Given the description of an element on the screen output the (x, y) to click on. 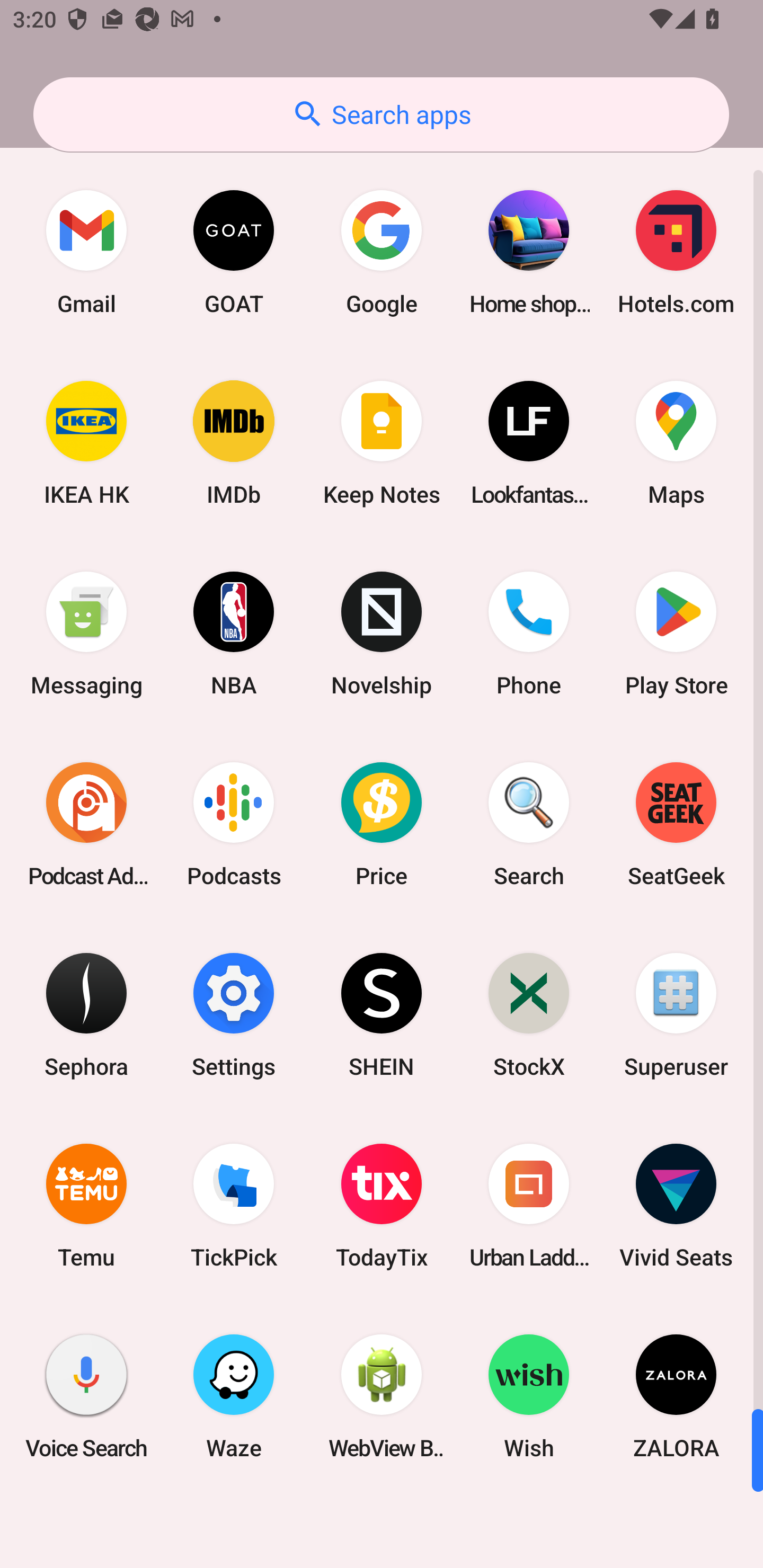
  Search apps (381, 114)
Gmail (86, 252)
GOAT (233, 252)
Google (381, 252)
Home shopping (528, 252)
Hotels.com (676, 252)
IKEA HK (86, 442)
IMDb (233, 442)
Keep Notes (381, 442)
Lookfantastic (528, 442)
Maps (676, 442)
Messaging (86, 633)
NBA (233, 633)
Novelship (381, 633)
Phone (528, 633)
Play Store (676, 633)
Podcast Addict (86, 823)
Podcasts (233, 823)
Price (381, 823)
Search (528, 823)
SeatGeek (676, 823)
Sephora (86, 1014)
Settings (233, 1014)
SHEIN (381, 1014)
StockX (528, 1014)
Superuser (676, 1014)
Temu (86, 1205)
TickPick (233, 1205)
TodayTix (381, 1205)
Urban Ladder (528, 1205)
Vivid Seats (676, 1205)
Voice Search (86, 1396)
Waze (233, 1396)
WebView Browser Tester (381, 1396)
Wish (528, 1396)
ZALORA (676, 1396)
